Given the description of an element on the screen output the (x, y) to click on. 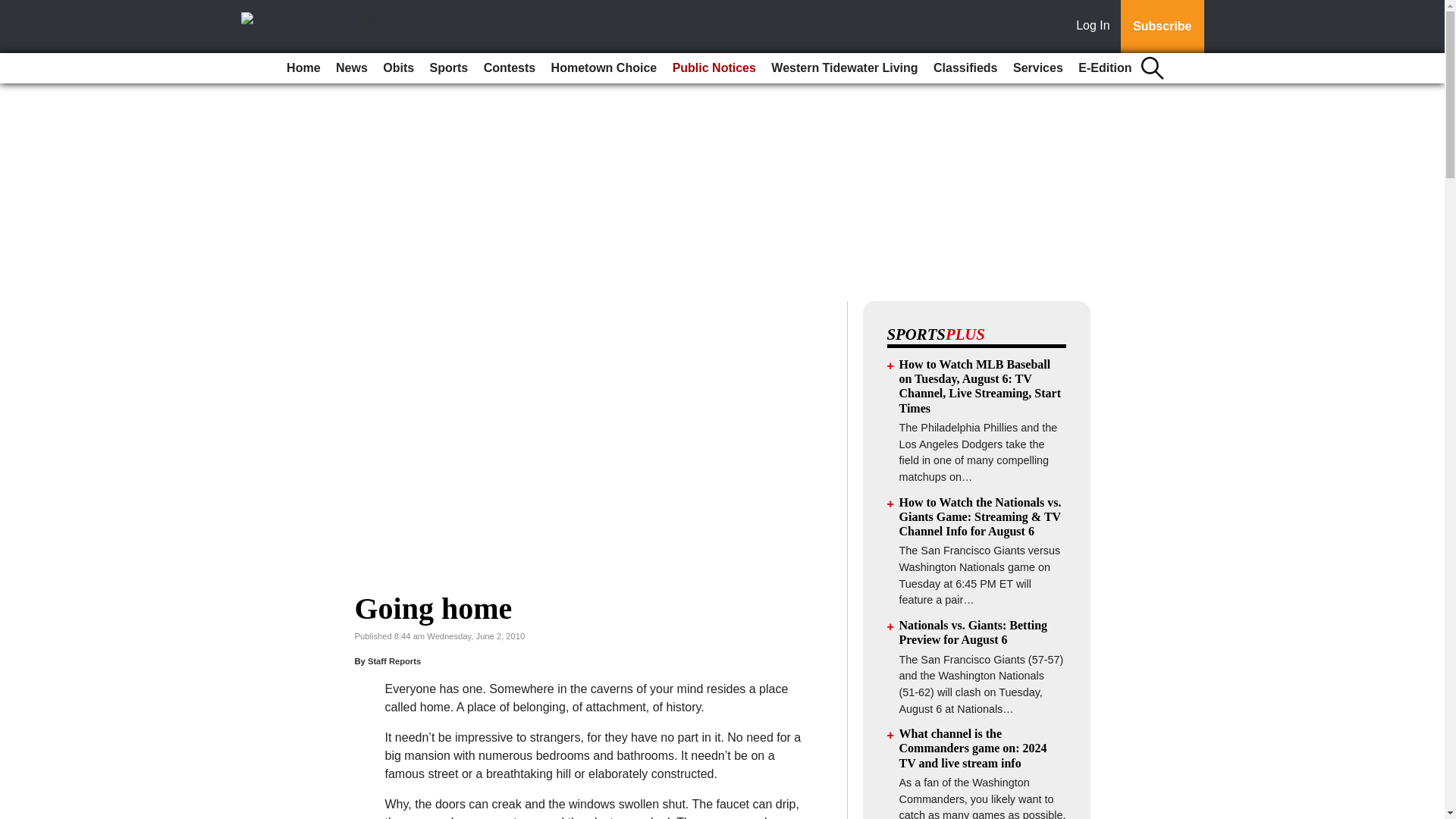
Home (303, 68)
Classifieds (965, 68)
Sports (448, 68)
Log In (1095, 26)
Subscribe (1162, 26)
Obits (398, 68)
Western Tidewater Living (844, 68)
Go (13, 9)
E-Edition (1104, 68)
Staff Reports (394, 660)
Contests (509, 68)
Hometown Choice (603, 68)
News (352, 68)
Services (1037, 68)
Public Notices (713, 68)
